Given the description of an element on the screen output the (x, y) to click on. 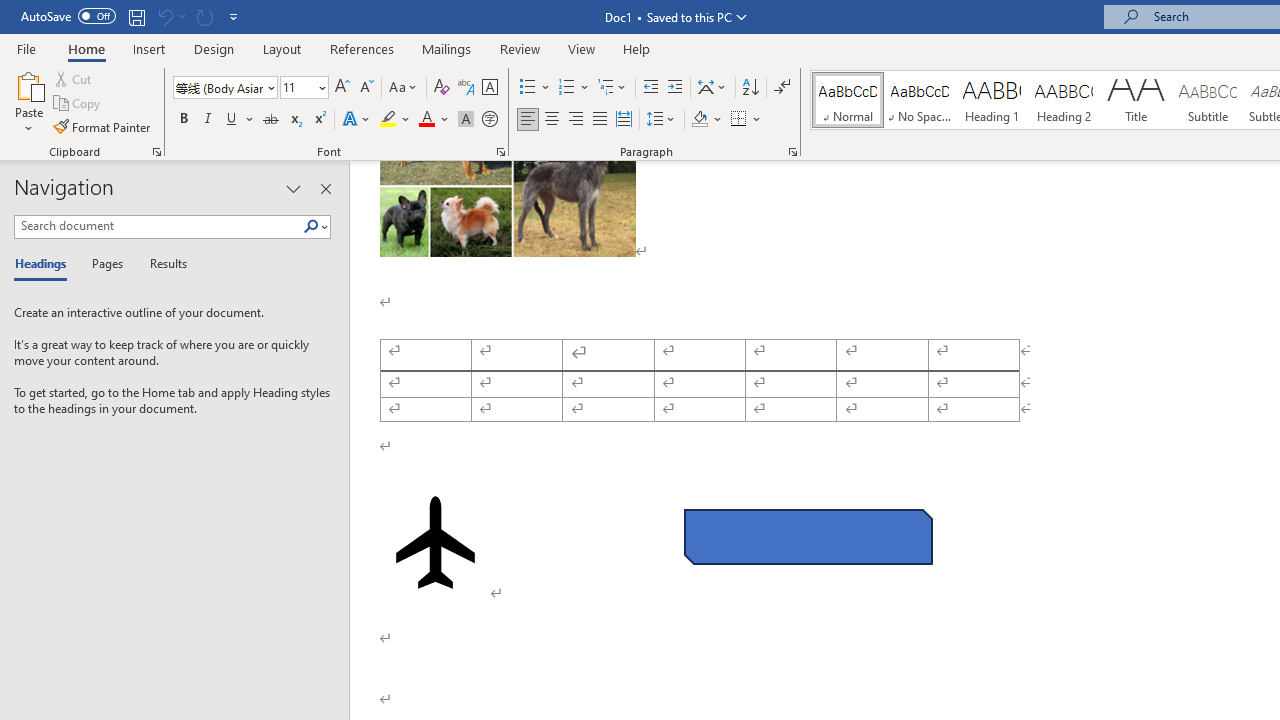
Can't Repeat (204, 15)
